Given the description of an element on the screen output the (x, y) to click on. 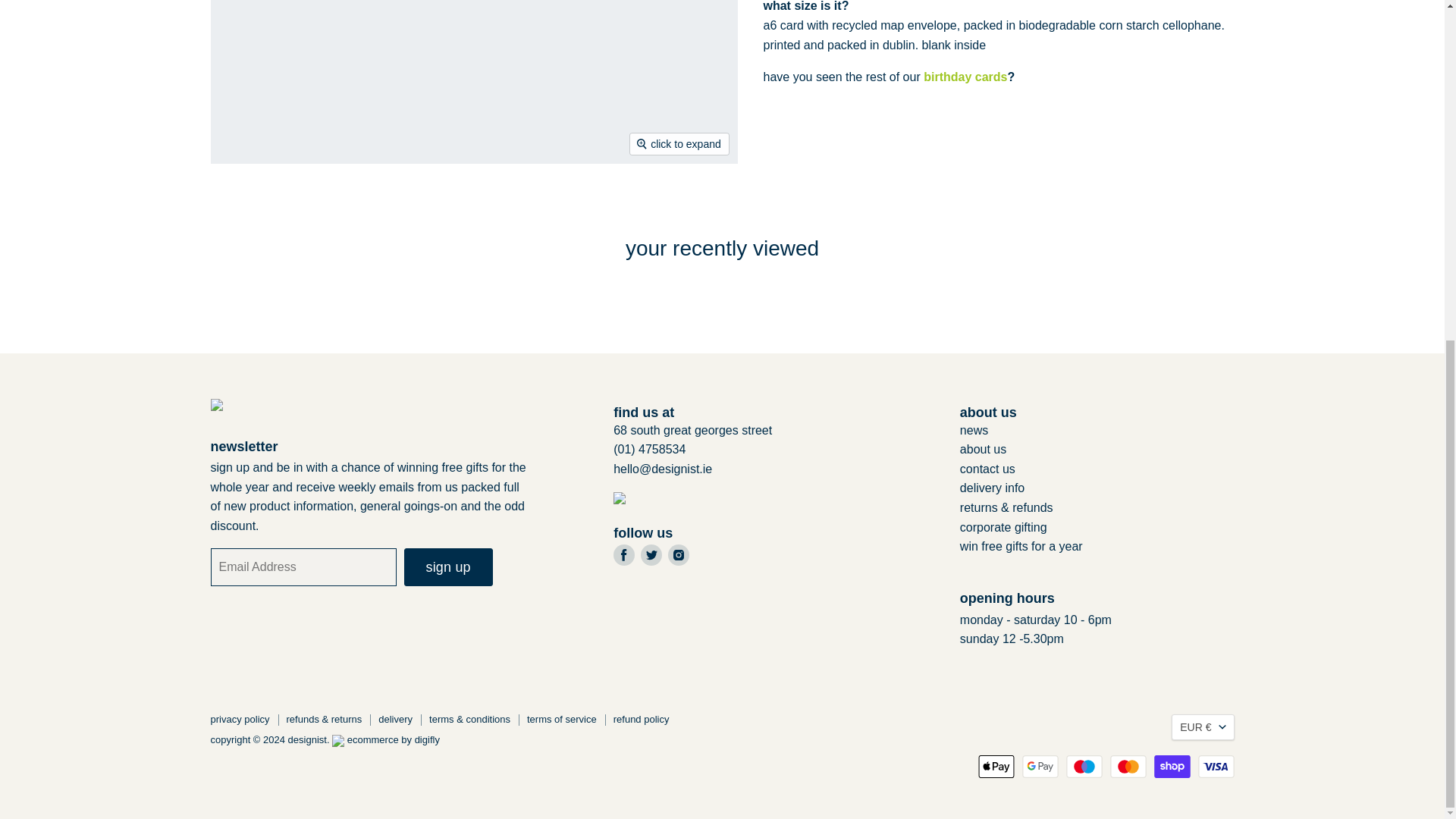
Instagram (678, 554)
Apple Pay (996, 766)
Google Pay (1040, 766)
Maestro (1083, 766)
Mastercard (1128, 766)
Twitter (651, 554)
Facebook (623, 554)
